Given the description of an element on the screen output the (x, y) to click on. 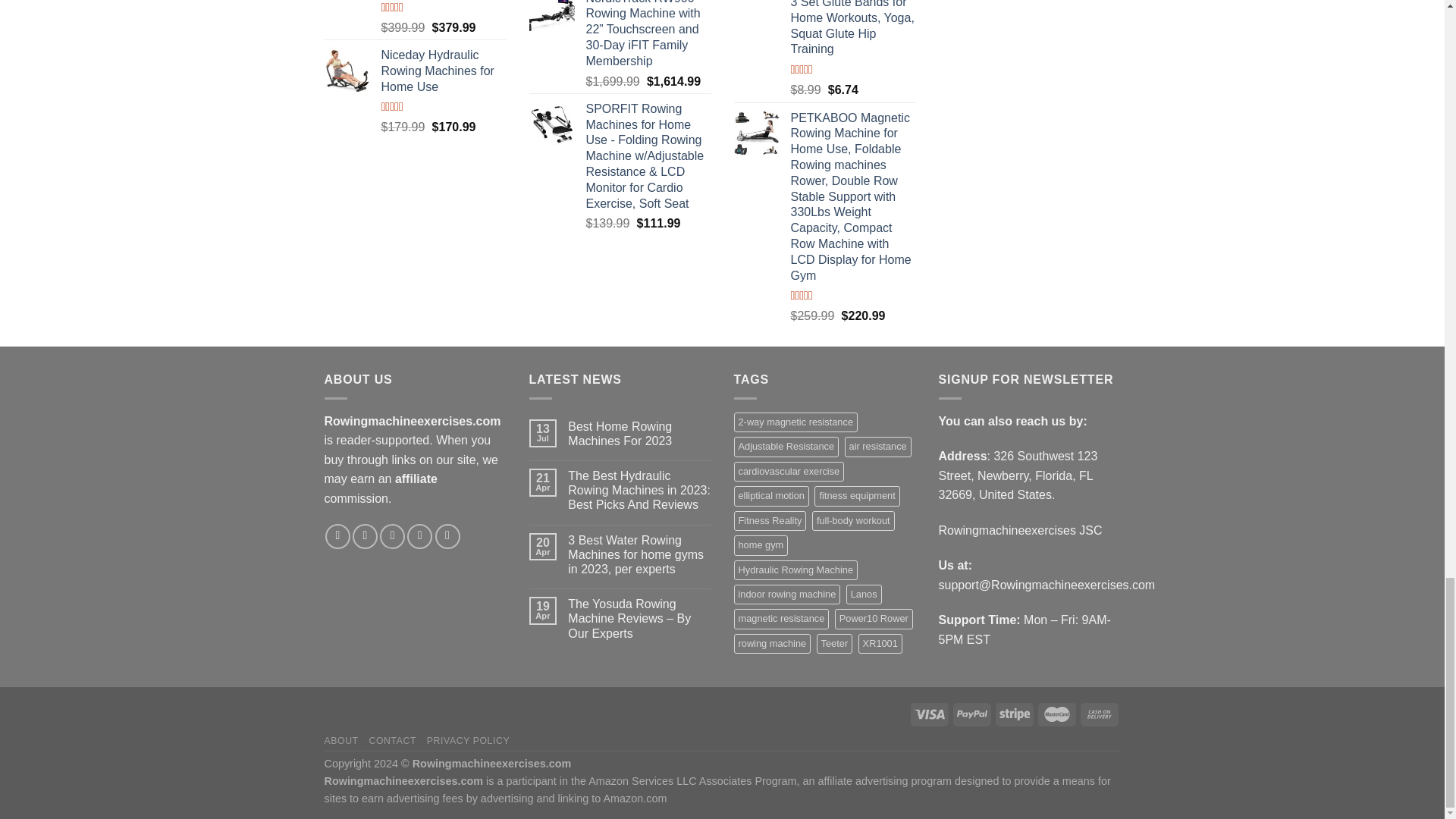
Best Home Rowing Machines For 2023 (638, 433)
